Given the description of an element on the screen output the (x, y) to click on. 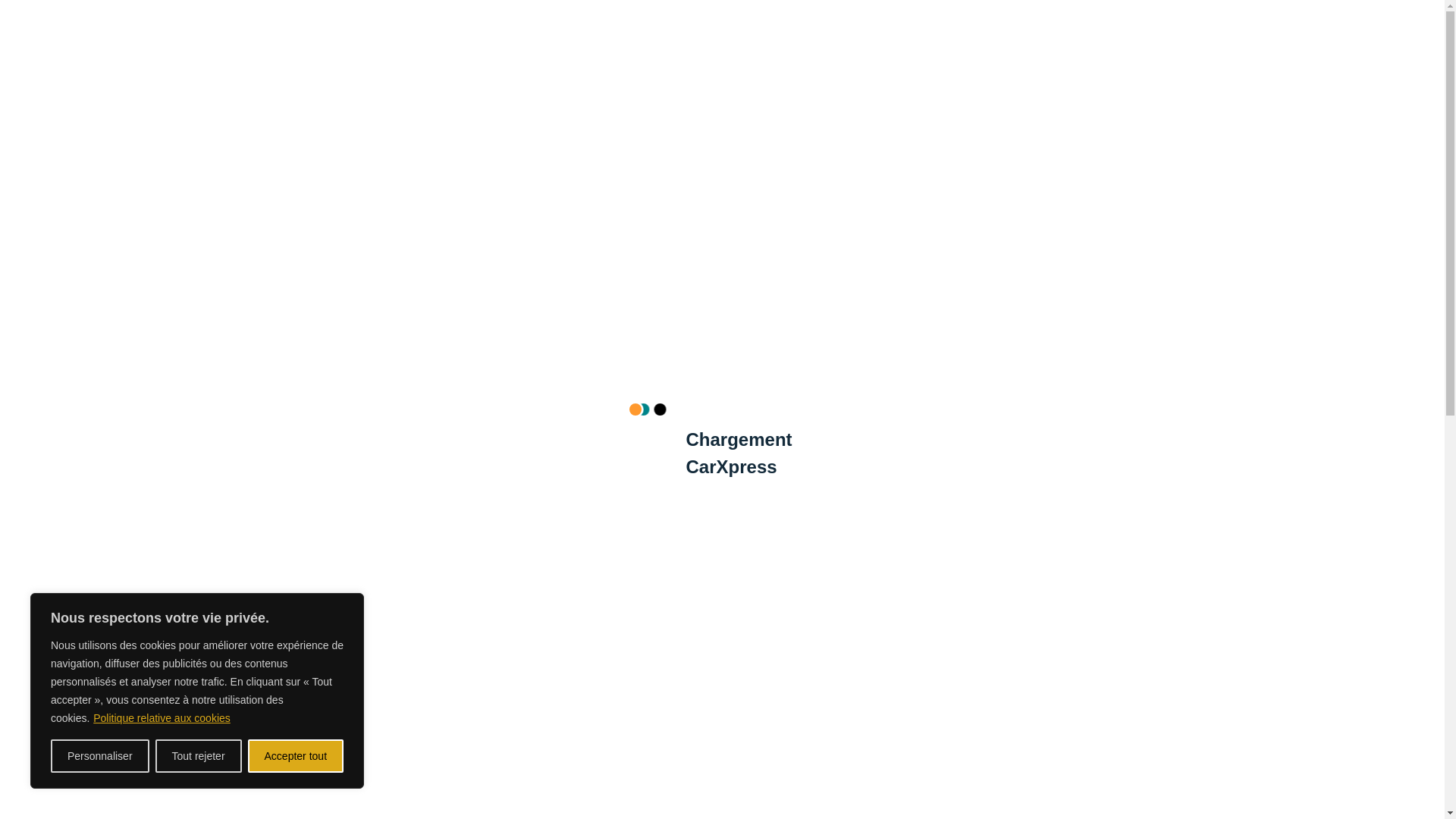
NEWS Element type: text (763, 69)
Accepter tout Element type: text (295, 755)
Voir tous les 2 roues disponibles Element type: text (949, 525)
Personnaliser Element type: text (99, 755)
NOUS CONTACTER Element type: text (850, 69)
Tout rejeter Element type: text (198, 755)
SE CONNECTER/ INSCRIPTION Element type: text (1016, 69)
ACCUEIL Element type: text (323, 69)
LOCATION Element type: text (394, 69)
Politique relative aux cookies Element type: text (161, 717)
